Given the description of an element on the screen output the (x, y) to click on. 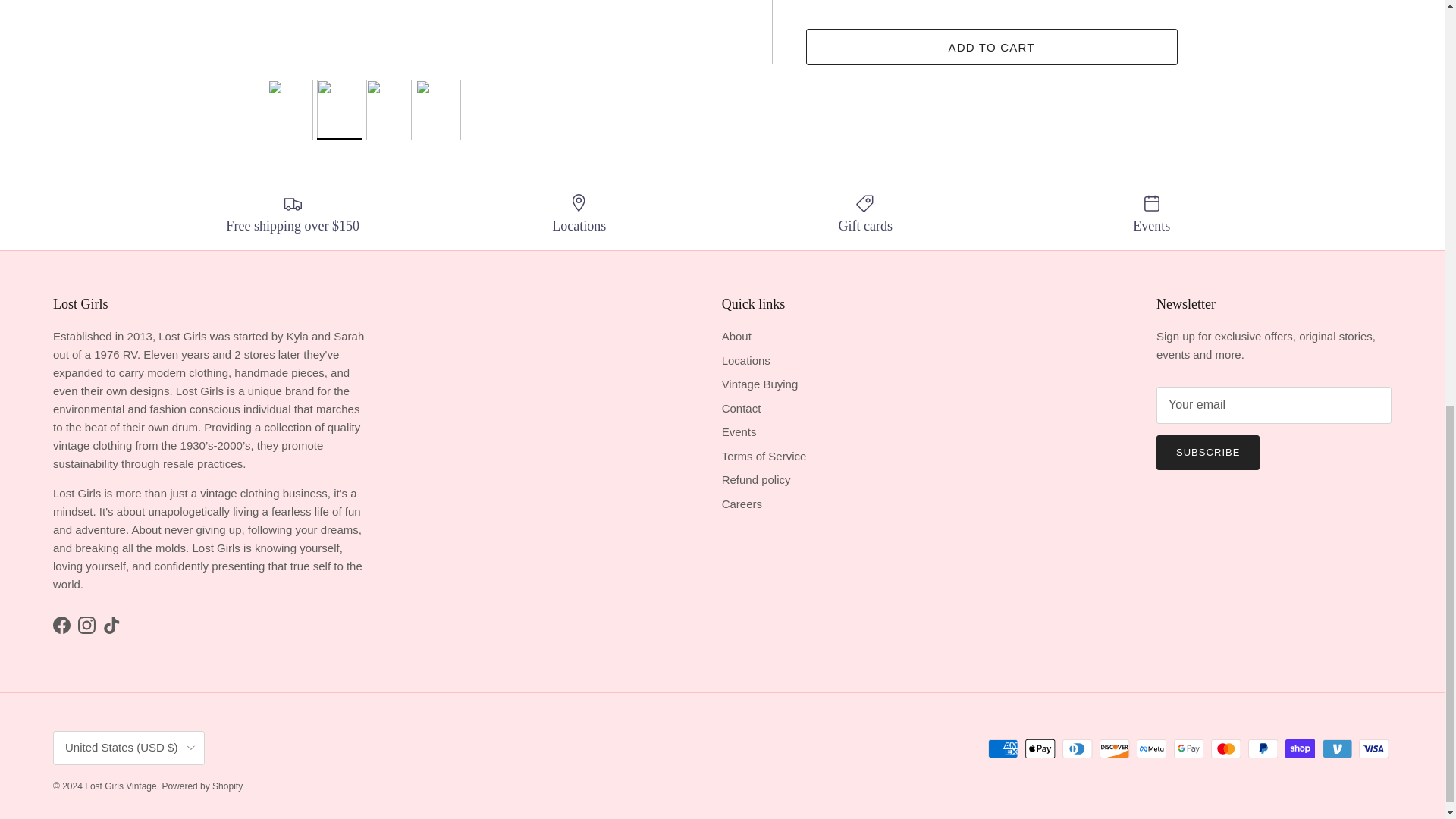
Lost Girls Vintage on Facebook (60, 624)
Lost Girls Vintage on Instagram (87, 624)
American Express (1002, 748)
Apple Pay (1040, 748)
Lost Girls Vintage on TikTok (111, 624)
Diners Club (1077, 748)
